Given the description of an element on the screen output the (x, y) to click on. 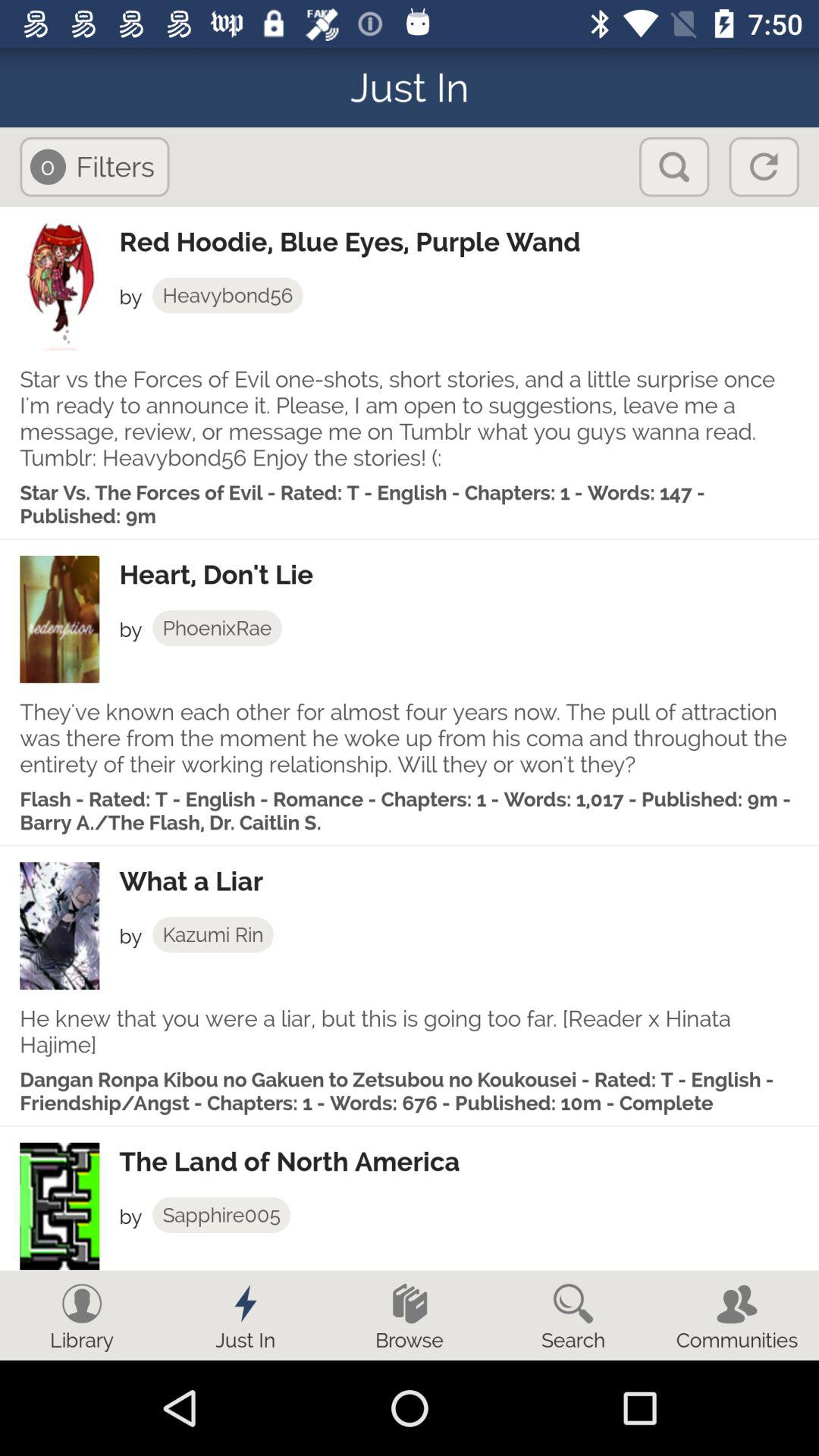
select the he knew that icon (409, 1031)
